Given the description of an element on the screen output the (x, y) to click on. 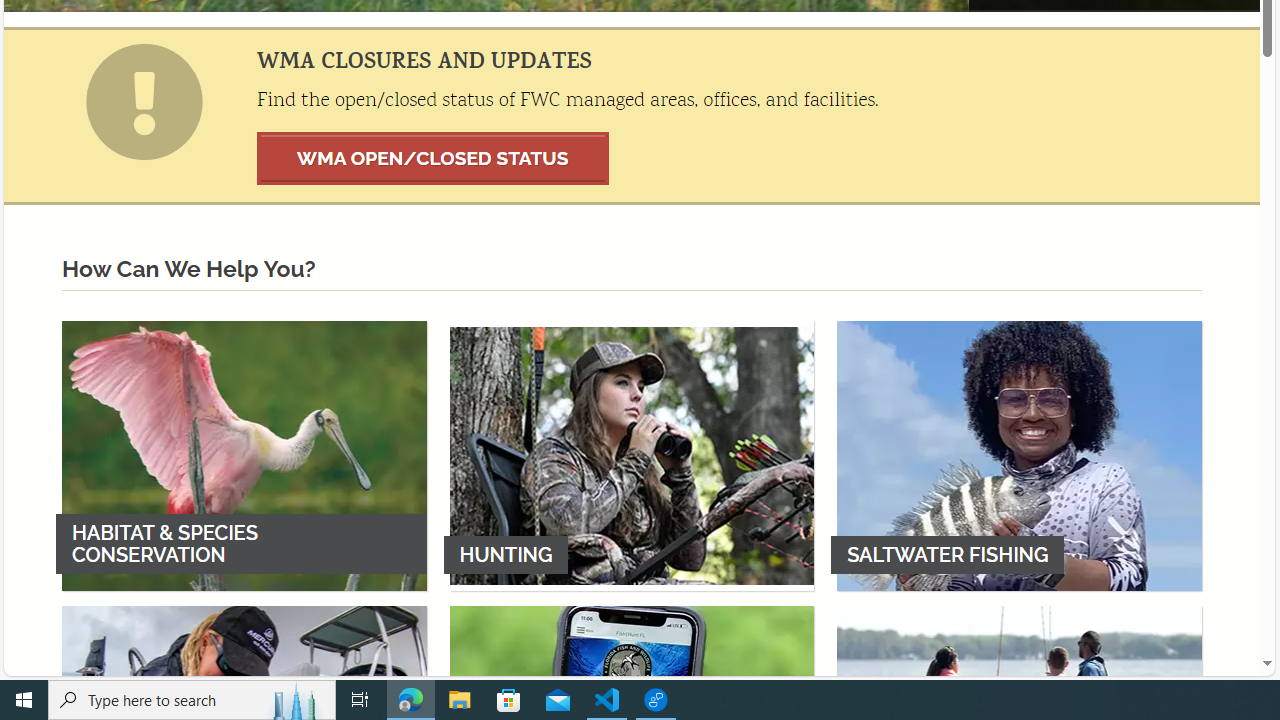
SALTWATER FISHING (1019, 455)
HABITAT & SPECIES CONSERVATION (244, 455)
WMA OPEN/CLOSED STATUS (433, 158)
HUNTING (632, 455)
